Given the description of an element on the screen output the (x, y) to click on. 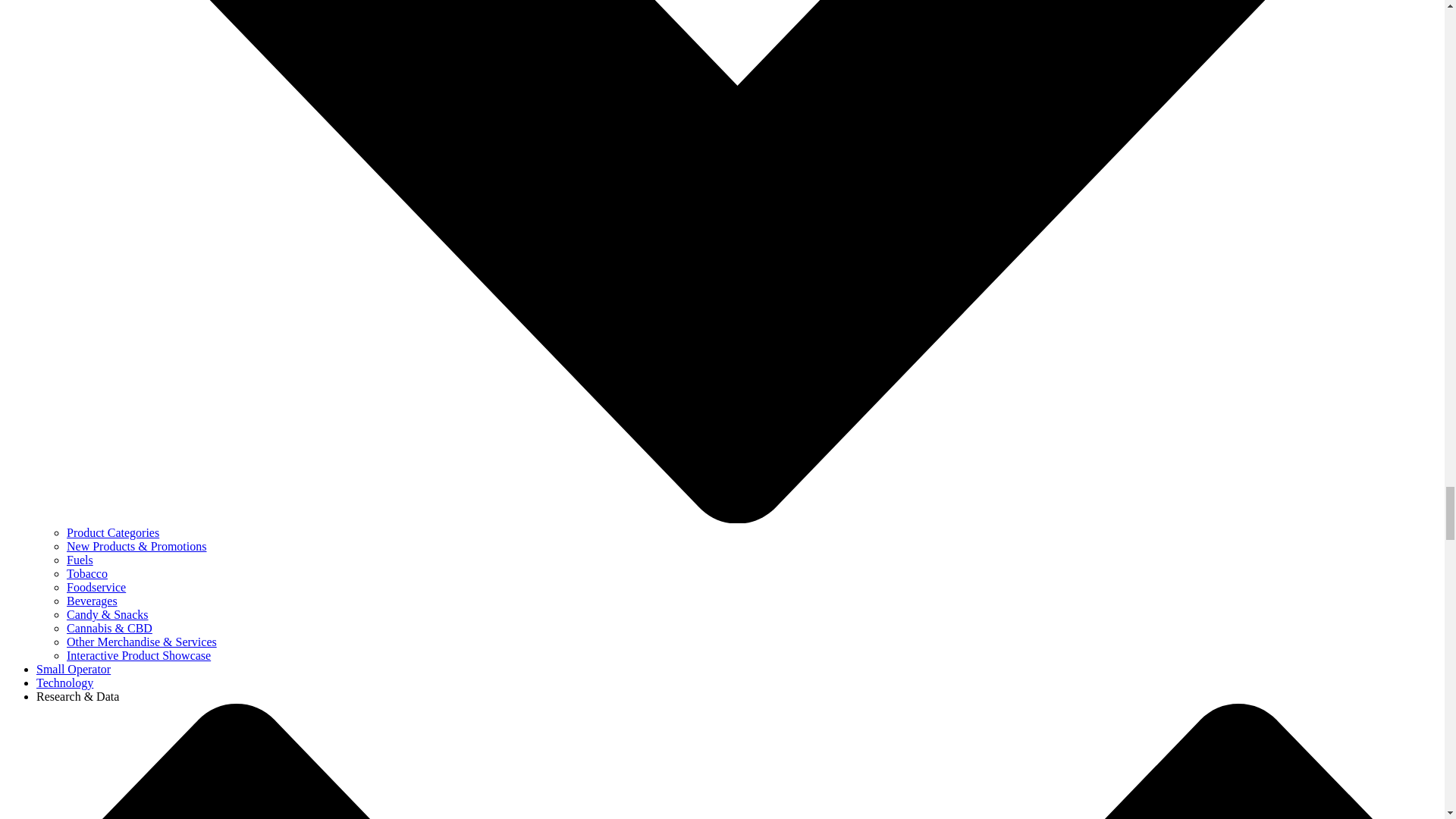
Product Categories (112, 532)
Interactive Product Showcase (138, 655)
Beverages (91, 600)
Fuels (79, 559)
Tobacco (86, 573)
Technology (64, 682)
Foodservice (95, 586)
Small Operator (73, 668)
